Given the description of an element on the screen output the (x, y) to click on. 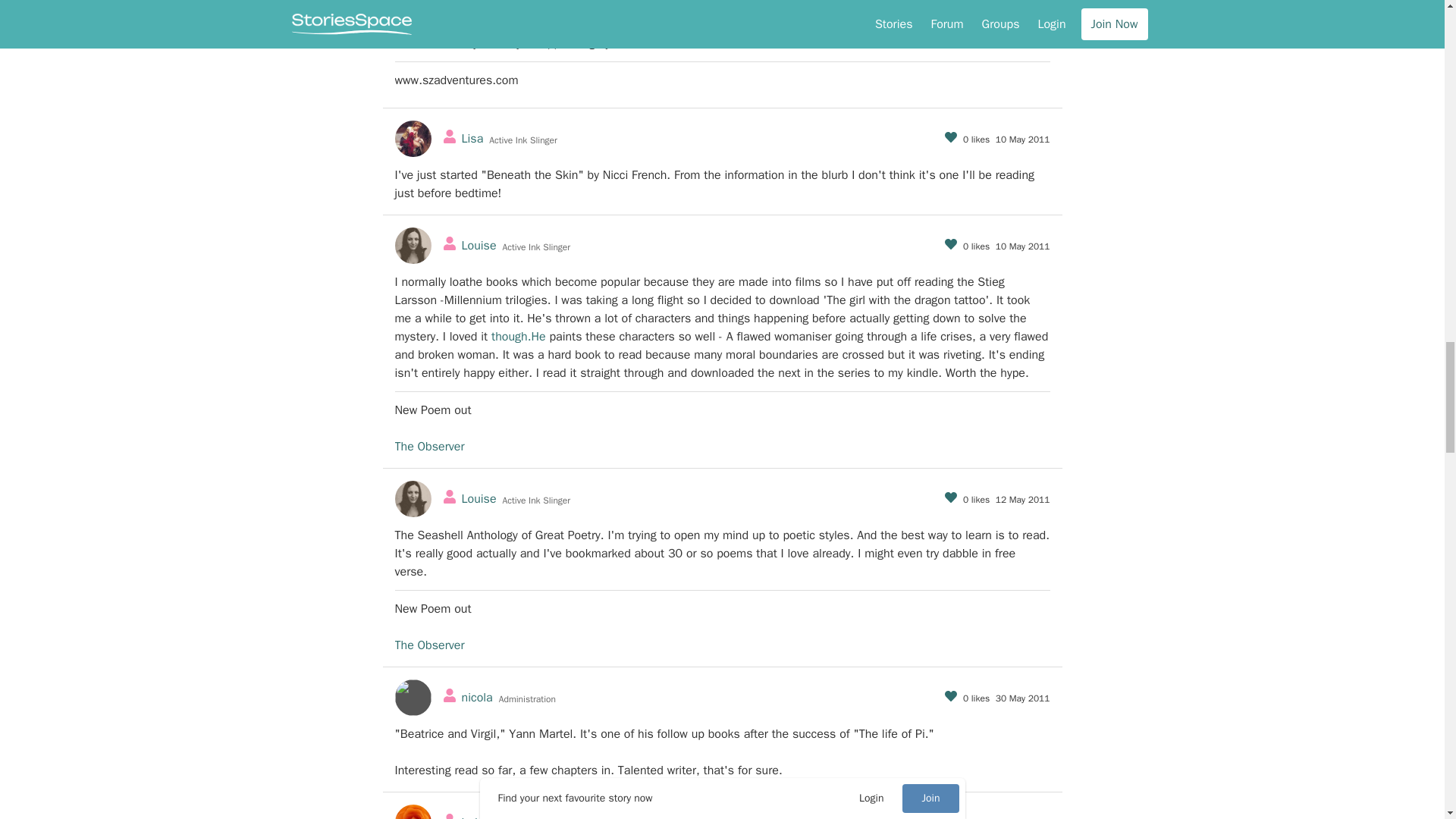
Lisa (472, 137)
Louise (478, 245)
ladysharon (489, 6)
